Given the description of an element on the screen output the (x, y) to click on. 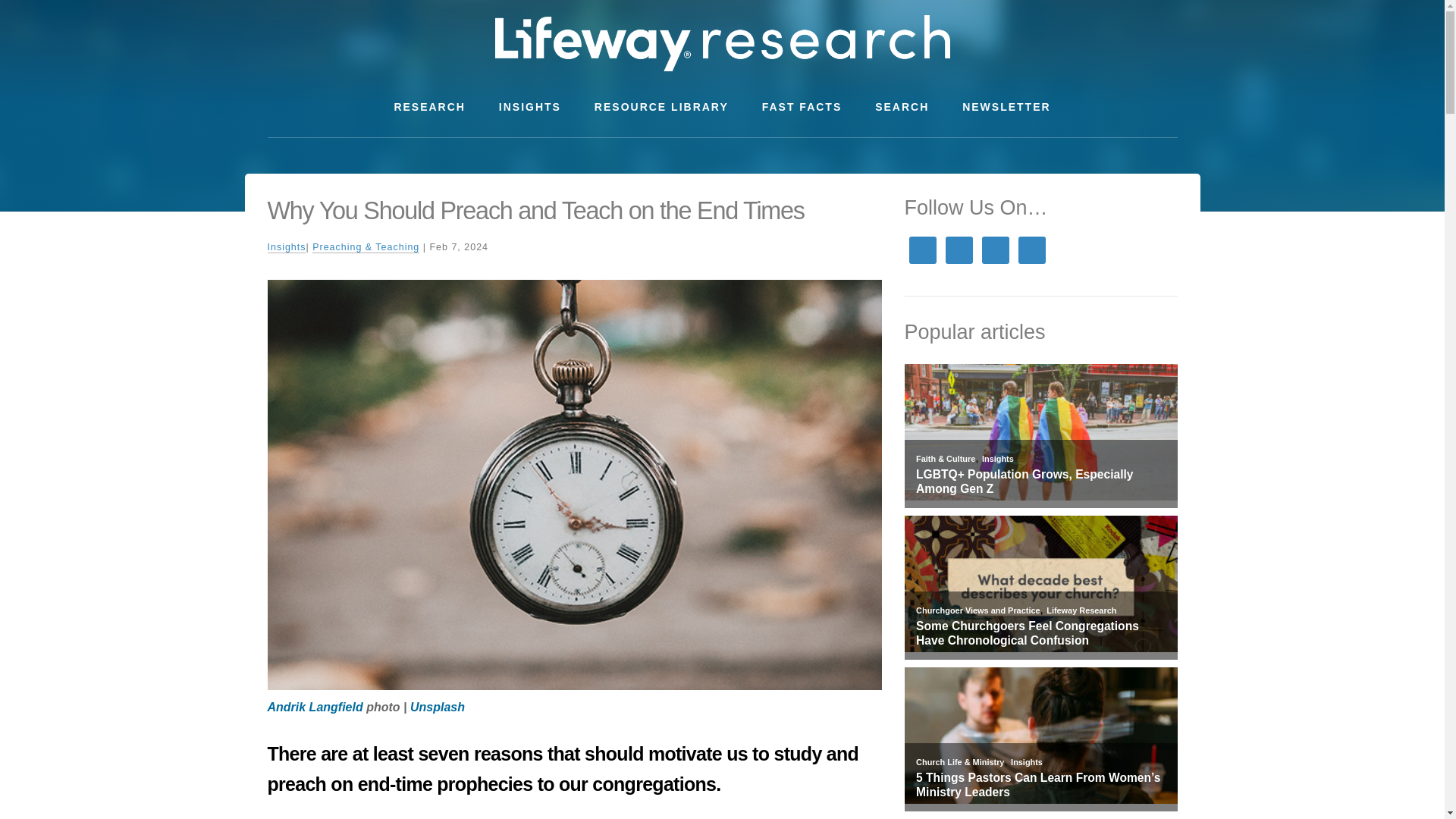
SEARCH (901, 106)
Andrik Langfield (314, 707)
FAST FACTS (801, 106)
Insights (285, 247)
NEWSLETTER (1006, 106)
RESEARCH (429, 106)
INSIGHTS (529, 106)
Unsplash (437, 707)
RESOURCE LIBRARY (661, 106)
